Given the description of an element on the screen output the (x, y) to click on. 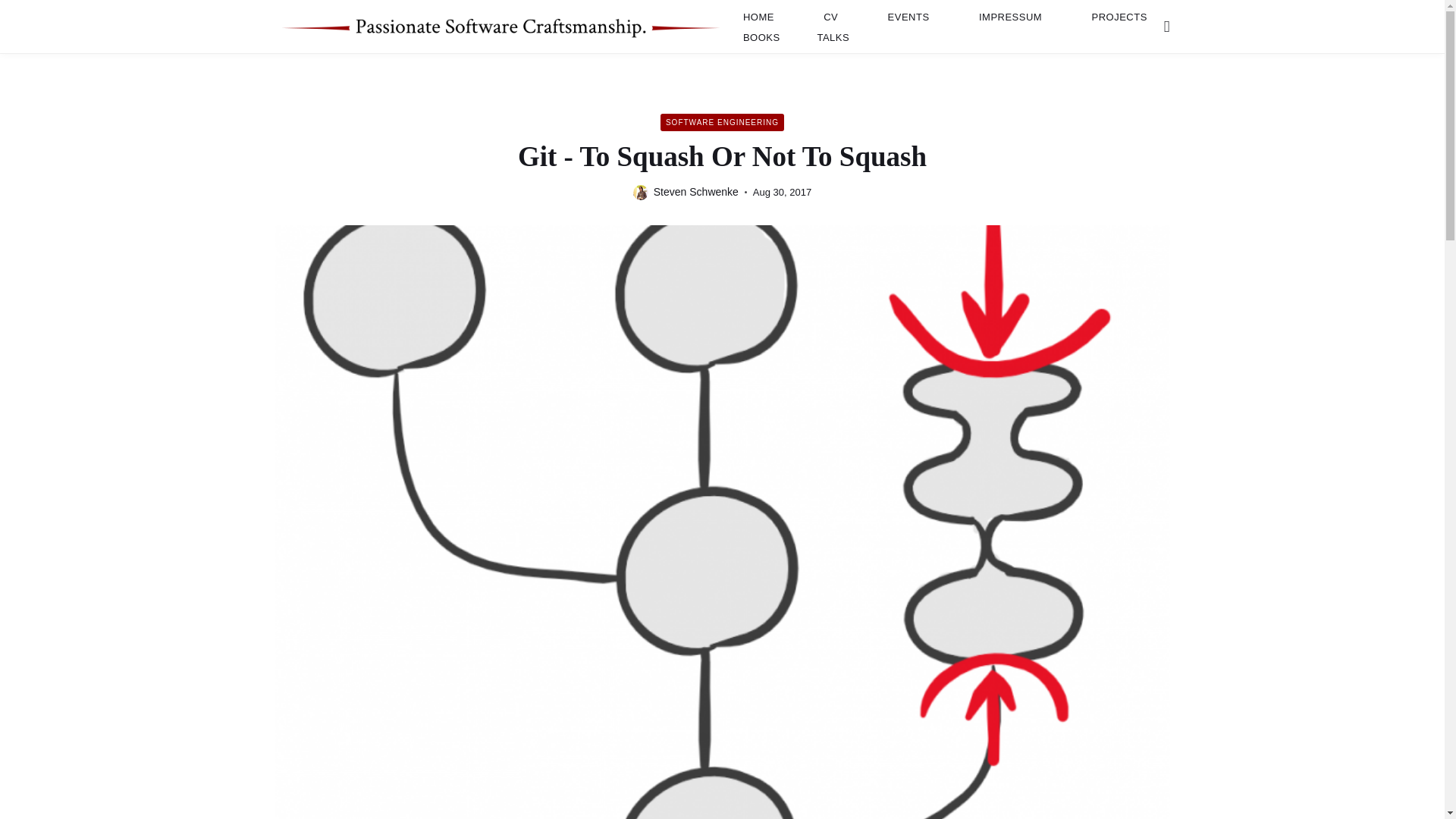
HOME (758, 16)
BOOKS (762, 36)
SOFTWARE ENGINEERING (722, 122)
TALKS (832, 36)
PROJECTS (1118, 16)
CV (830, 16)
EVENTS (908, 16)
IMPRESSUM (1010, 16)
Steven Schwenke (695, 191)
